Given the description of an element on the screen output the (x, y) to click on. 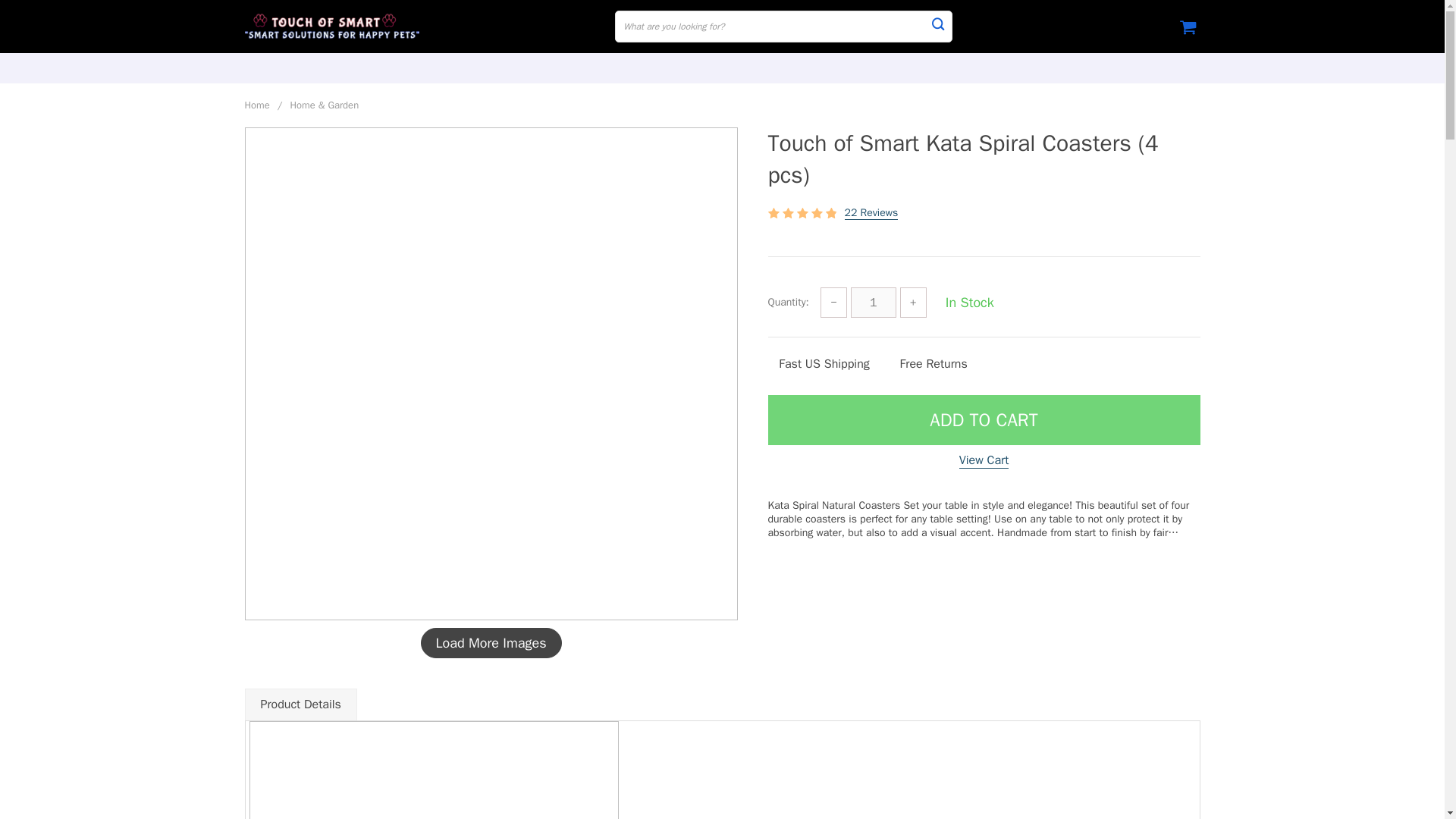
ADD TO CART (983, 419)
Home (256, 105)
1 (873, 302)
